Given the description of an element on the screen output the (x, y) to click on. 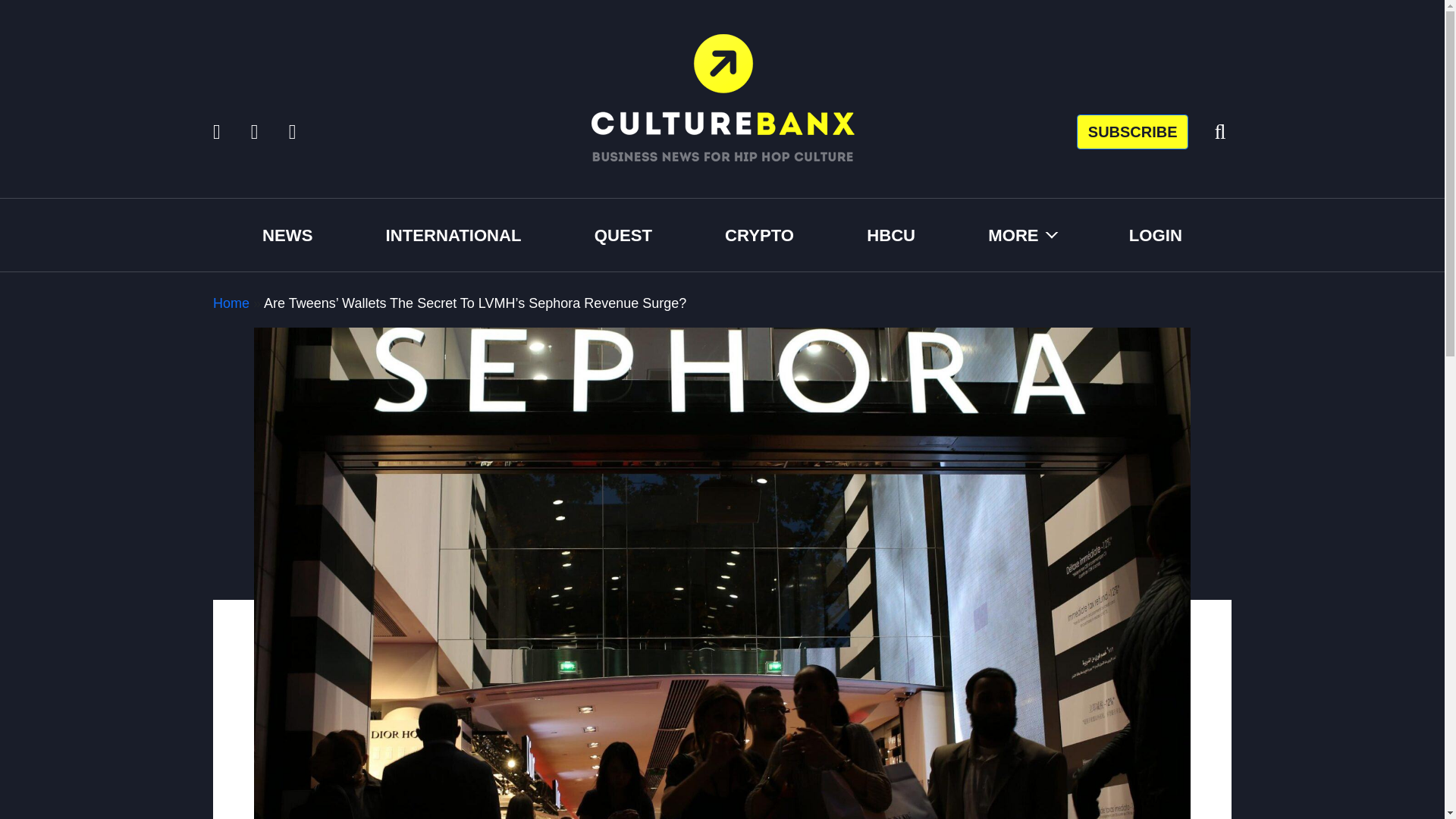
CRYPTO (758, 234)
QUEST (623, 234)
Home (230, 303)
International (453, 234)
SEARCH (1186, 204)
MORE (1021, 234)
News (287, 234)
Crypto (758, 234)
INTERNATIONAL (453, 234)
Login (1155, 234)
